Given the description of an element on the screen output the (x, y) to click on. 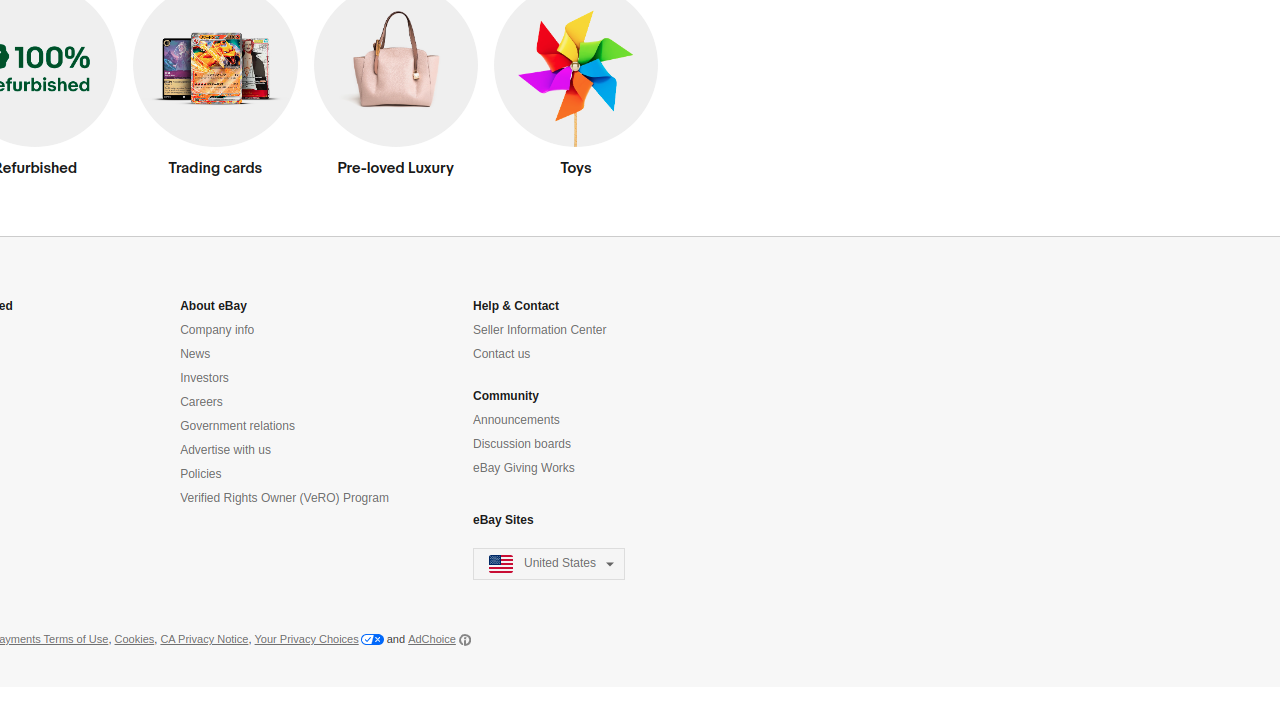
News Element type: link (195, 354)
Policies Element type: link (201, 474)
Advertise with us Element type: link (225, 450)
eBay Giving Works Element type: link (524, 468)
Announcements Element type: link (516, 420)
